Given the description of an element on the screen output the (x, y) to click on. 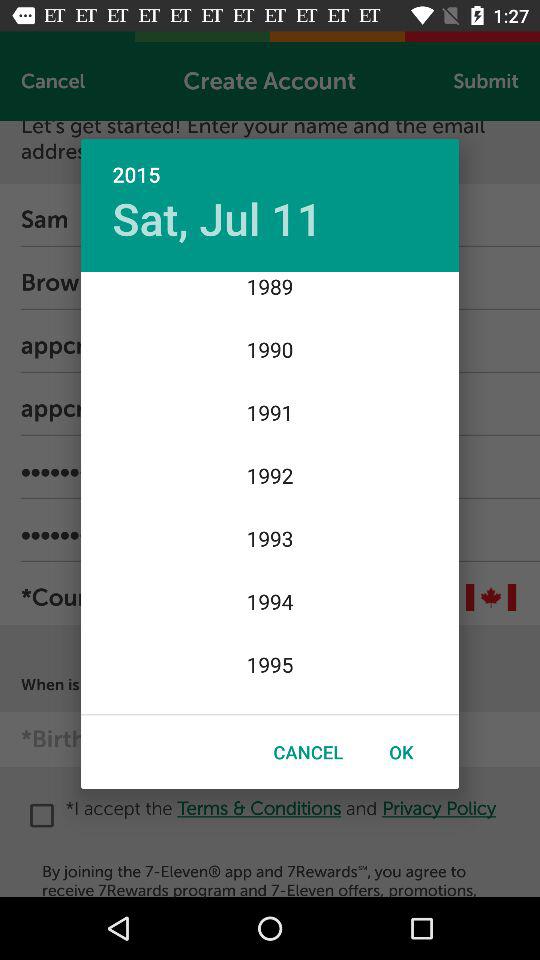
swipe until ok icon (401, 751)
